Given the description of an element on the screen output the (x, y) to click on. 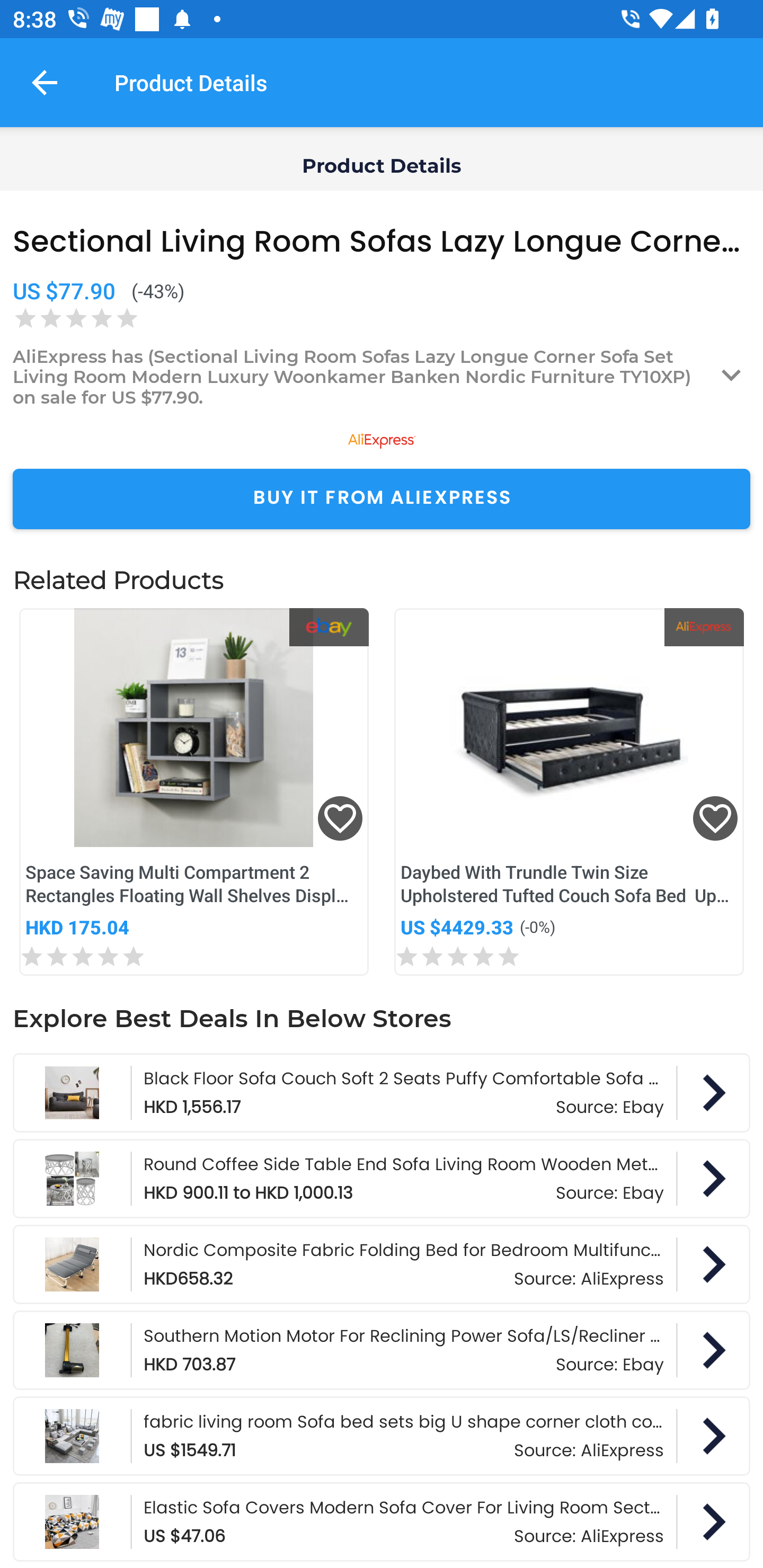
Navigate up (44, 82)
BUY IT FROM ALIEXPRESS (381, 499)
